Given the description of an element on the screen output the (x, y) to click on. 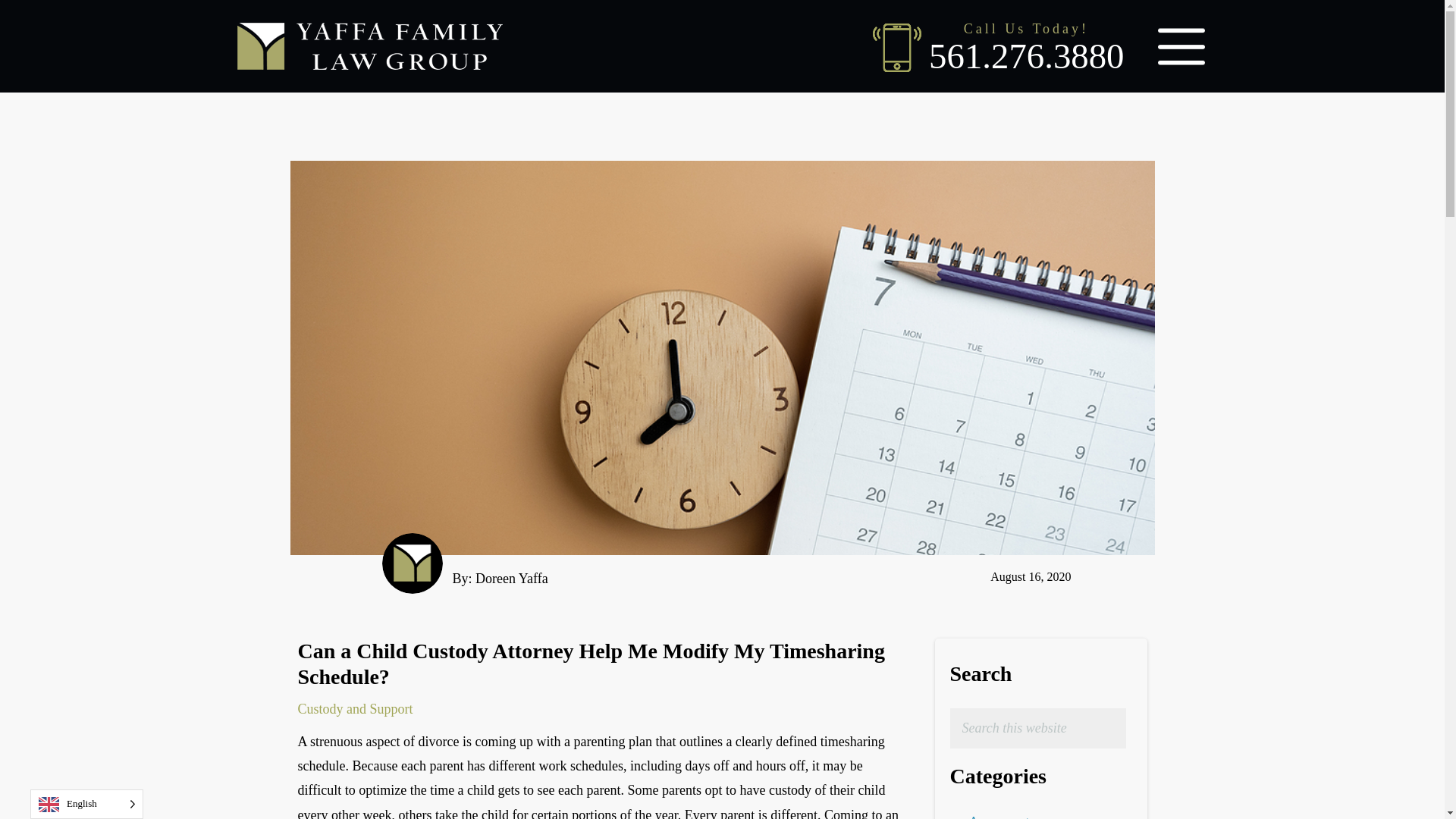
Menu (1180, 46)
561.276.3880 (998, 56)
